Given the description of an element on the screen output the (x, y) to click on. 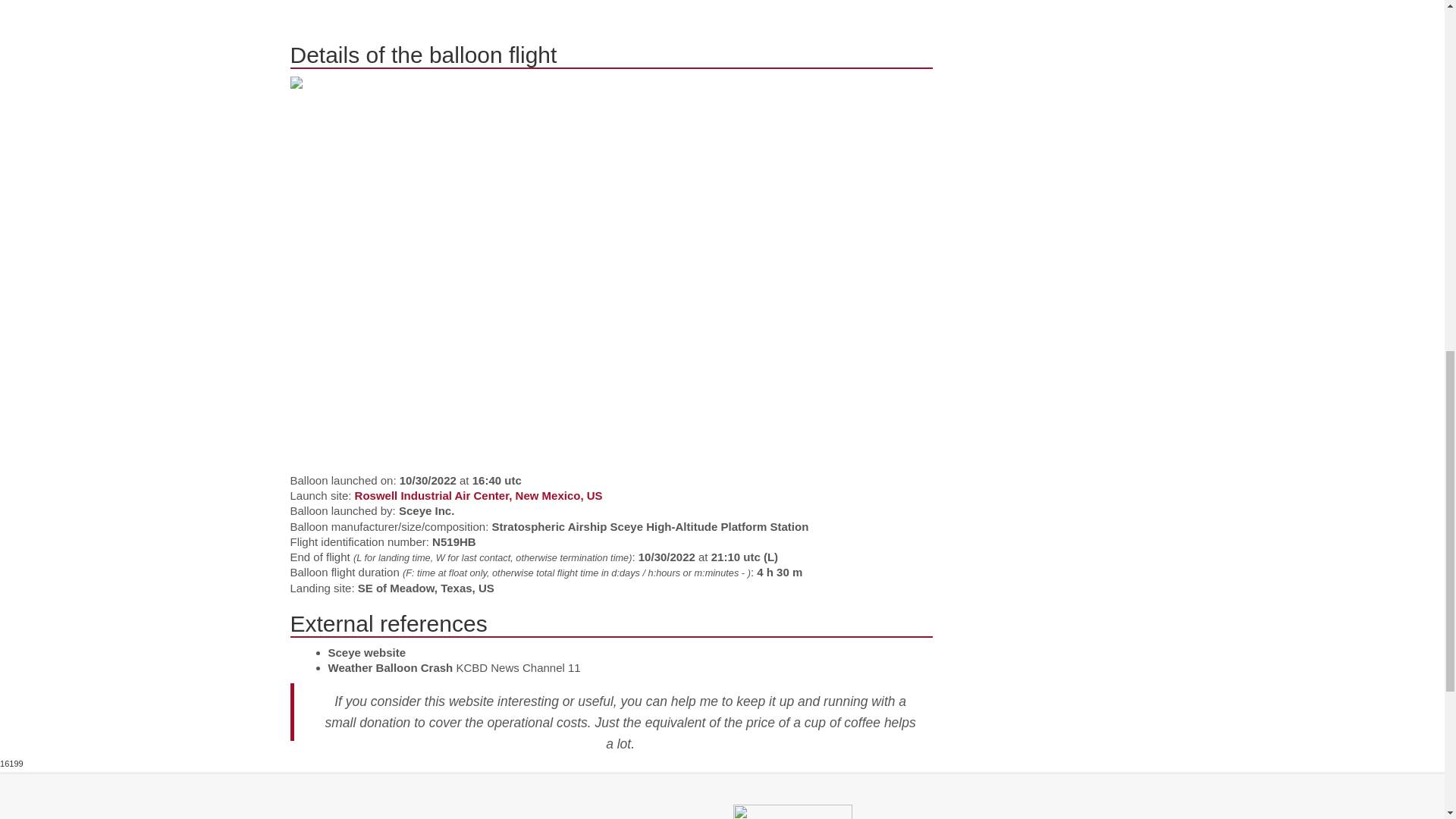
Weather Balloon Crash (389, 667)
Roswell Industrial Air Center, New Mexico, US (478, 495)
Sceye website (366, 652)
